Given the description of an element on the screen output the (x, y) to click on. 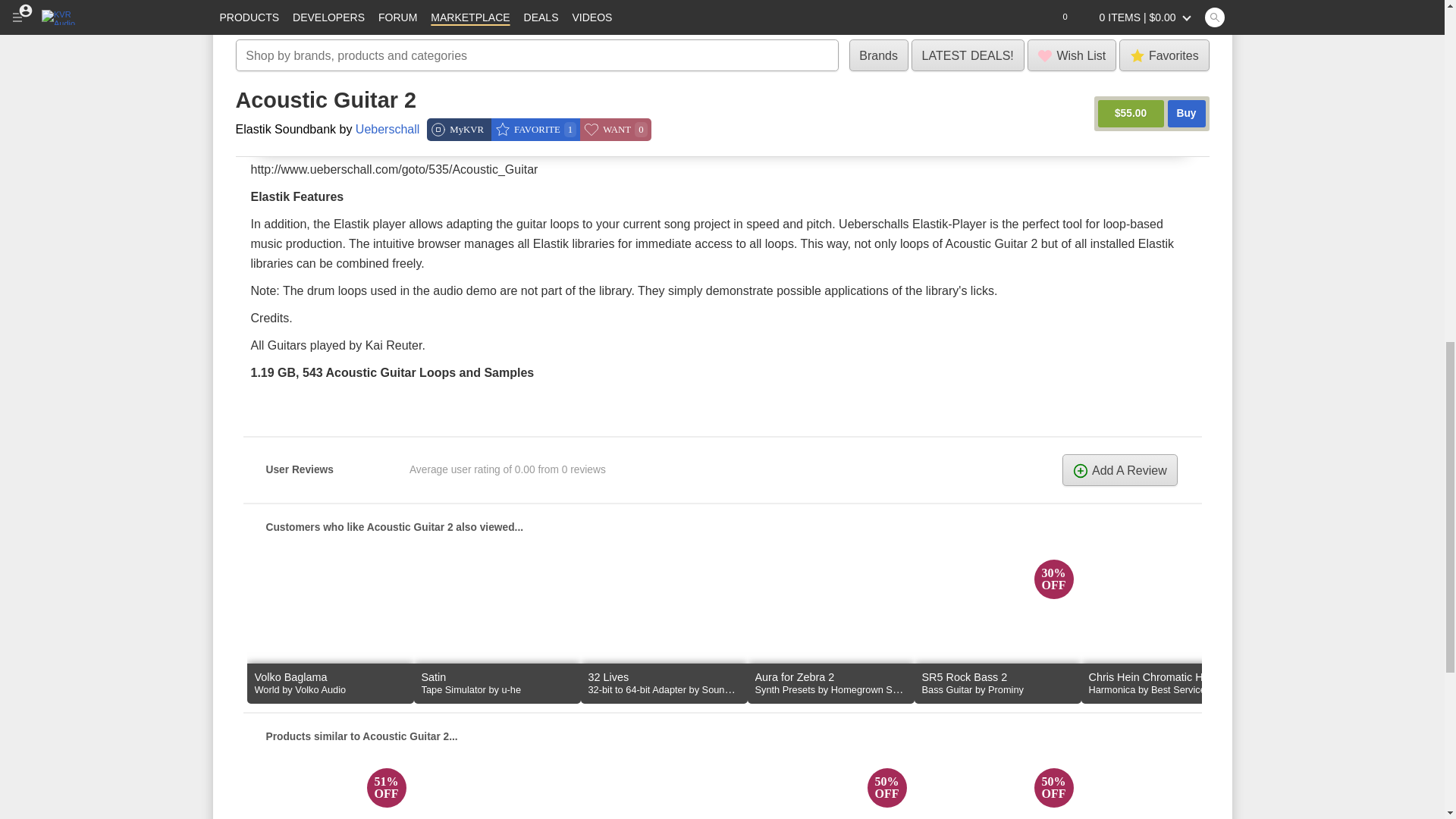
Products similar to Acoustic Guitar 2... (722, 735)
Customers who like Acoustic Guitar 2 also viewed... (722, 526)
